Given the description of an element on the screen output the (x, y) to click on. 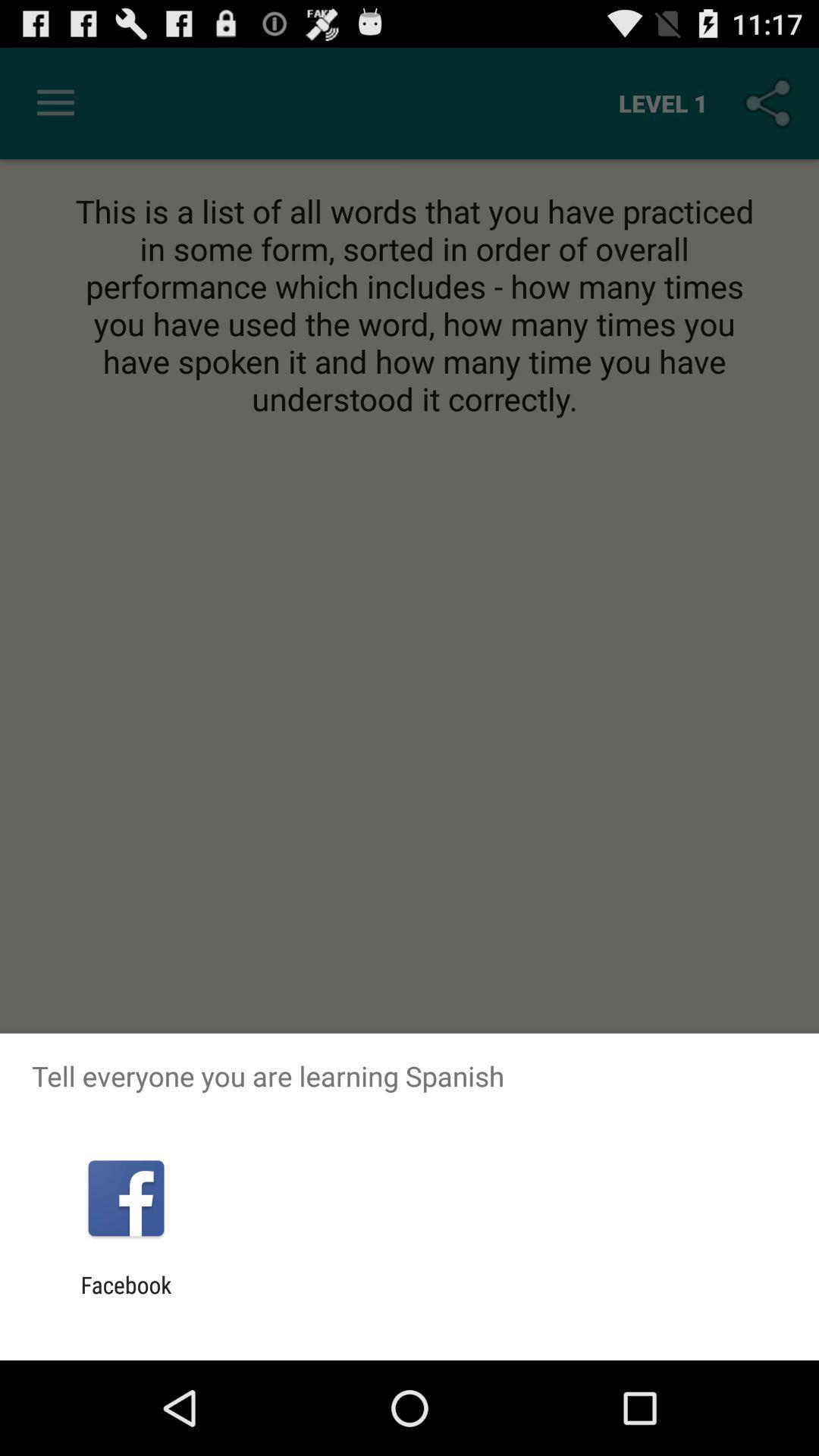
turn on the item below tell everyone you (126, 1198)
